Given the description of an element on the screen output the (x, y) to click on. 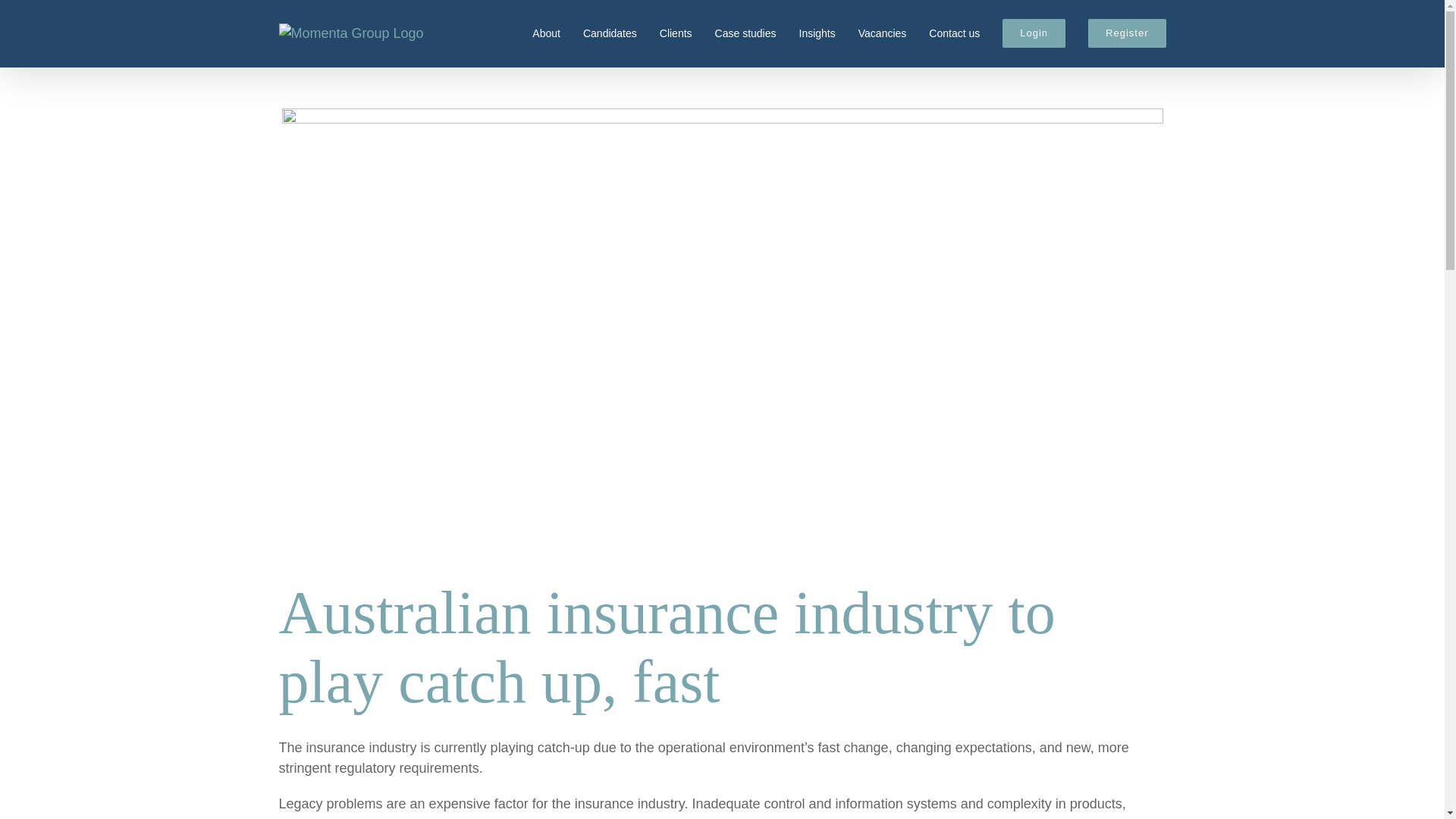
Case studies (745, 31)
Register (1126, 31)
Login (1034, 31)
